Given the description of an element on the screen output the (x, y) to click on. 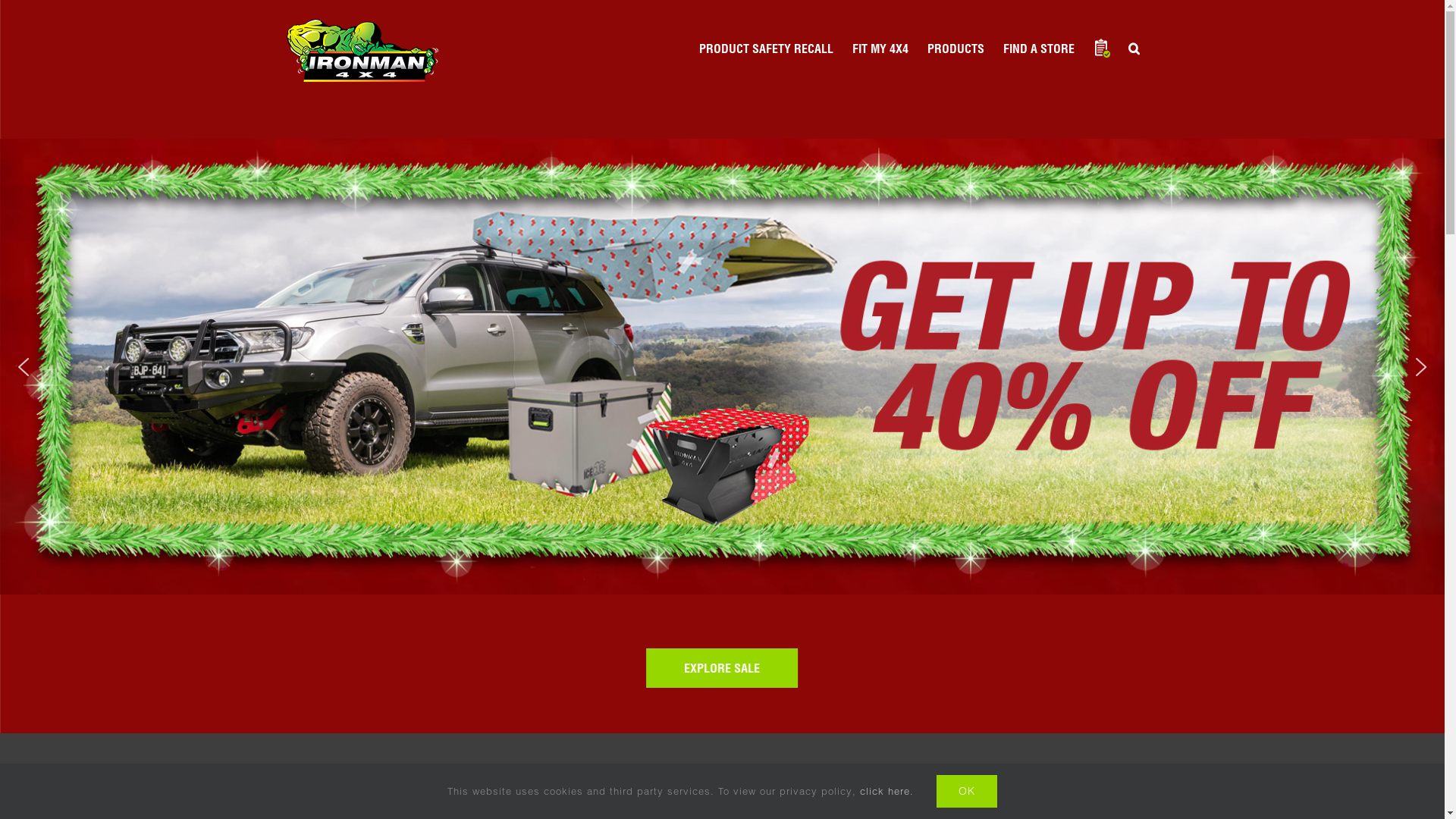
OK Element type: text (966, 791)
APPLY Element type: text (1005, 790)
PRODUCTS Element type: text (954, 48)
PRODUCT SAFETY RECALL Element type: text (766, 48)
FIND A STORE Element type: text (1037, 48)
click here. Element type: text (886, 790)
FIT MY 4X4 Element type: text (880, 48)
EXPLORE SALE Element type: text (722, 667)
Search Element type: hover (1133, 48)
